Given the description of an element on the screen output the (x, y) to click on. 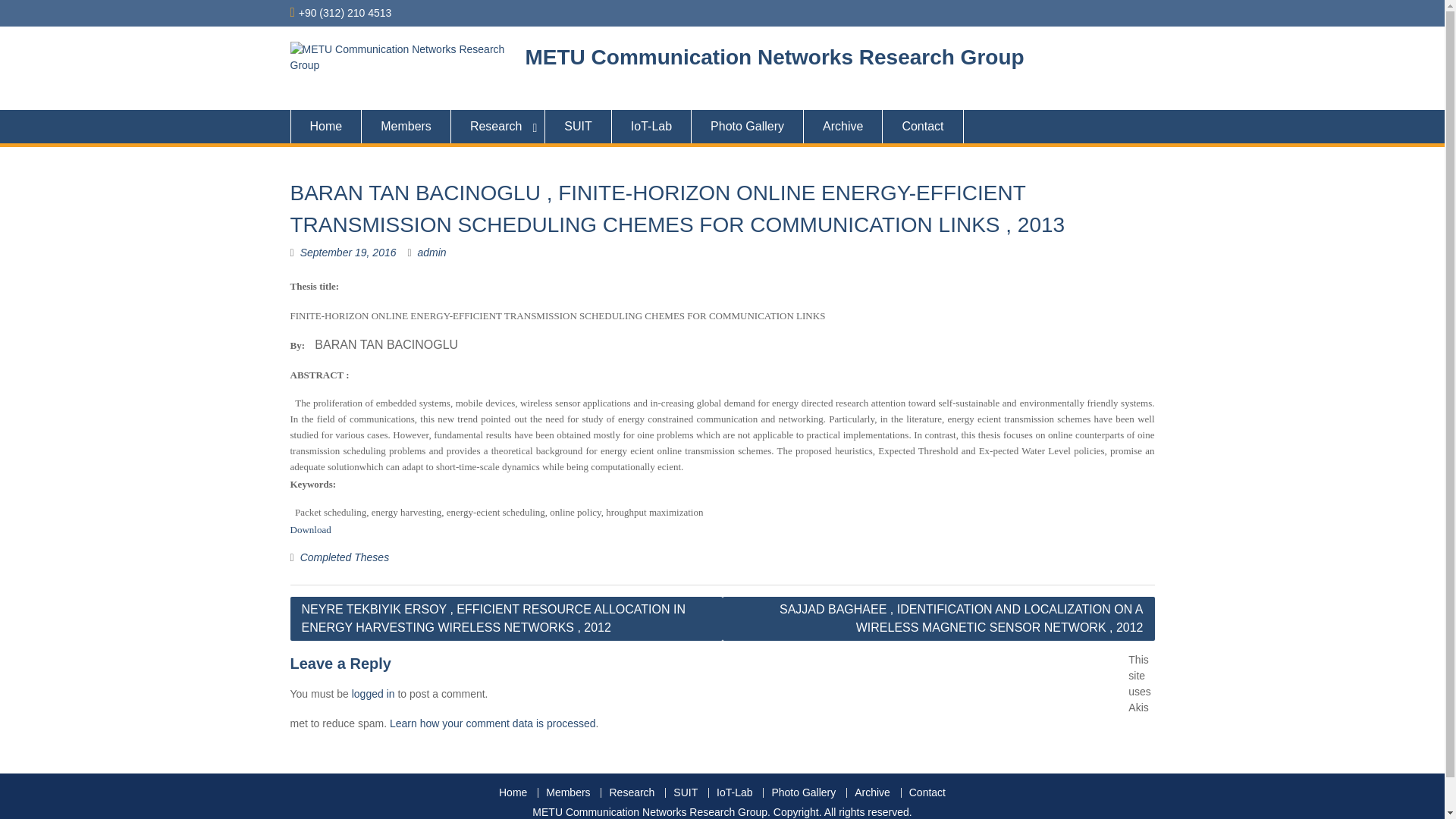
SUIT (577, 126)
Archive (842, 126)
METU Communication Networks Research Group (773, 56)
September 19, 2016 (347, 252)
admin (431, 252)
Completed Theses (344, 557)
Home (325, 126)
Research (497, 126)
IoT-Lab (651, 126)
Photo Gallery (747, 126)
Contact (922, 126)
logged in (373, 693)
Download (309, 528)
